Given the description of an element on the screen output the (x, y) to click on. 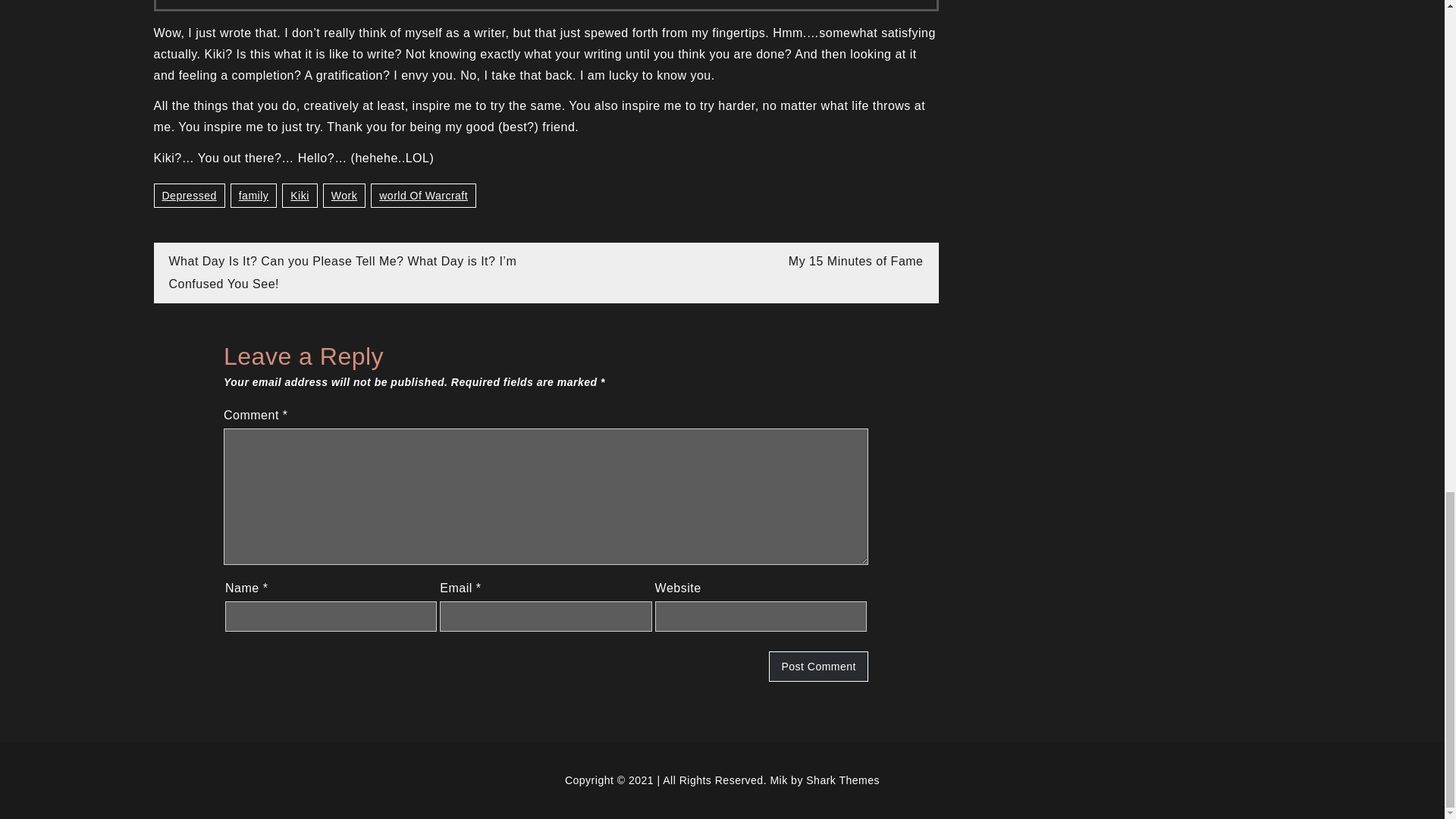
Post Comment (817, 666)
Kiki (299, 195)
Family (254, 195)
My 15 Minutes of Fame (856, 260)
World Of Warcraft (423, 195)
Depressed (188, 195)
Work (344, 195)
Post Comment (817, 666)
Shark Themes (842, 779)
